Given the description of an element on the screen output the (x, y) to click on. 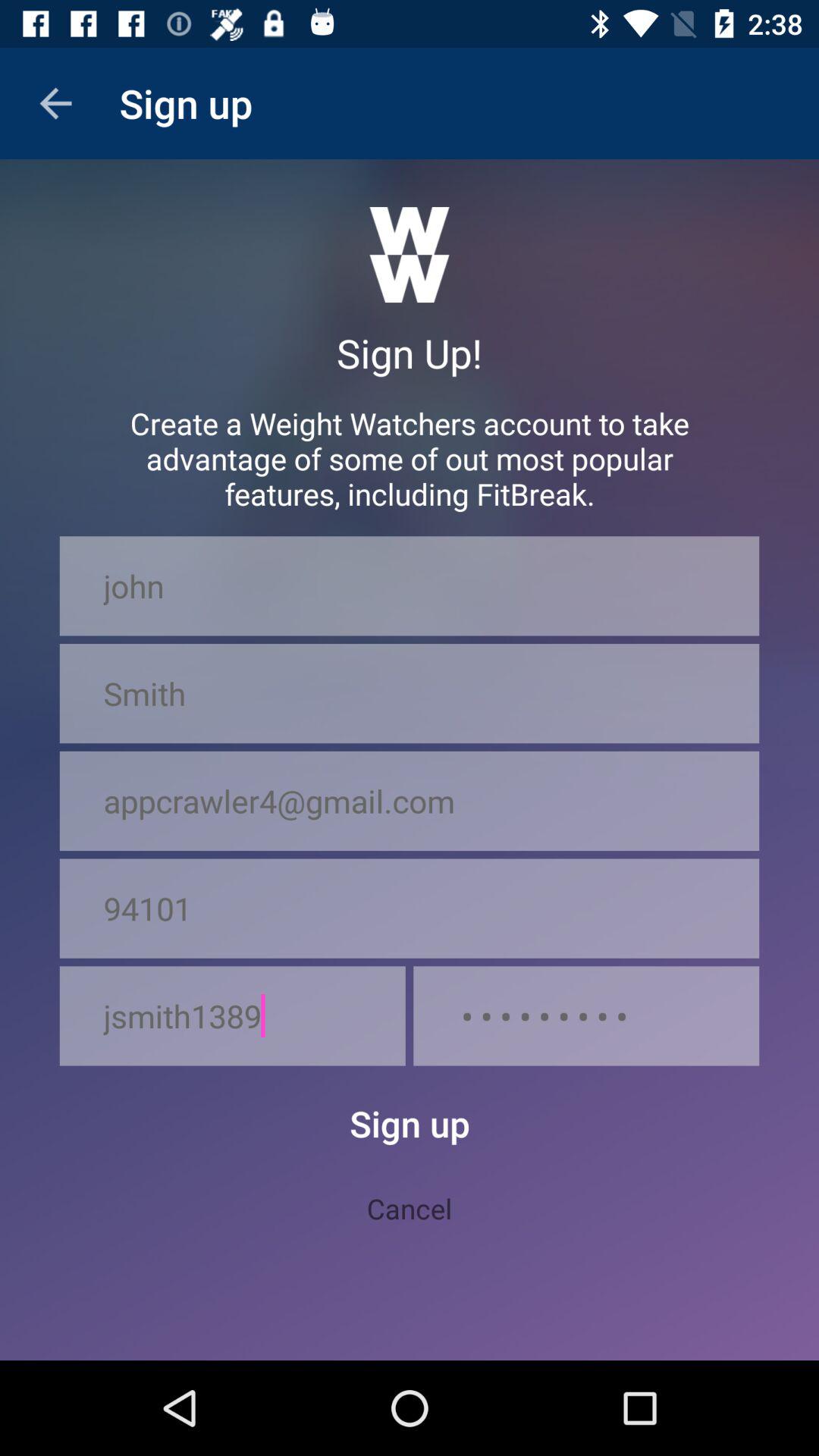
press item to the left of the sign up icon (55, 103)
